Given the description of an element on the screen output the (x, y) to click on. 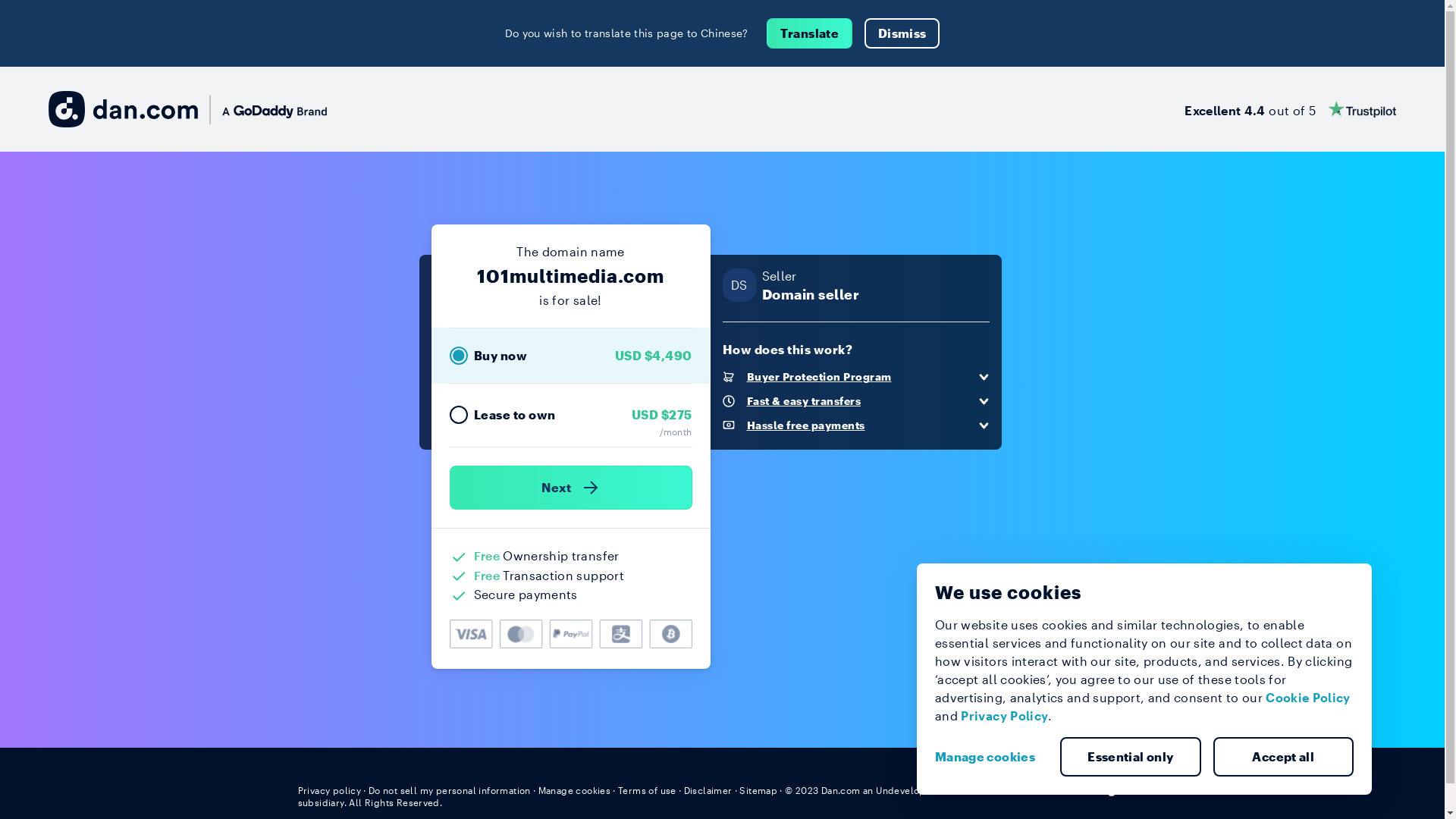
Disclaimer Element type: text (708, 789)
Next
) Element type: text (569, 487)
Accept all Element type: text (1283, 756)
Manage cookies Element type: text (991, 756)
Do not sell my personal information Element type: text (449, 789)
Essential only Element type: text (1130, 756)
Translate Element type: text (809, 33)
Manage cookies Element type: text (574, 790)
Excellent 4.4 out of 5 Element type: text (1290, 109)
Cookie Policy Element type: text (1307, 697)
Terms of use Element type: text (647, 789)
Dismiss Element type: text (901, 33)
Sitemap Element type: text (758, 789)
Privacy Policy Element type: text (1004, 715)
Privacy policy Element type: text (328, 789)
English Element type: text (1119, 789)
